Given the description of an element on the screen output the (x, y) to click on. 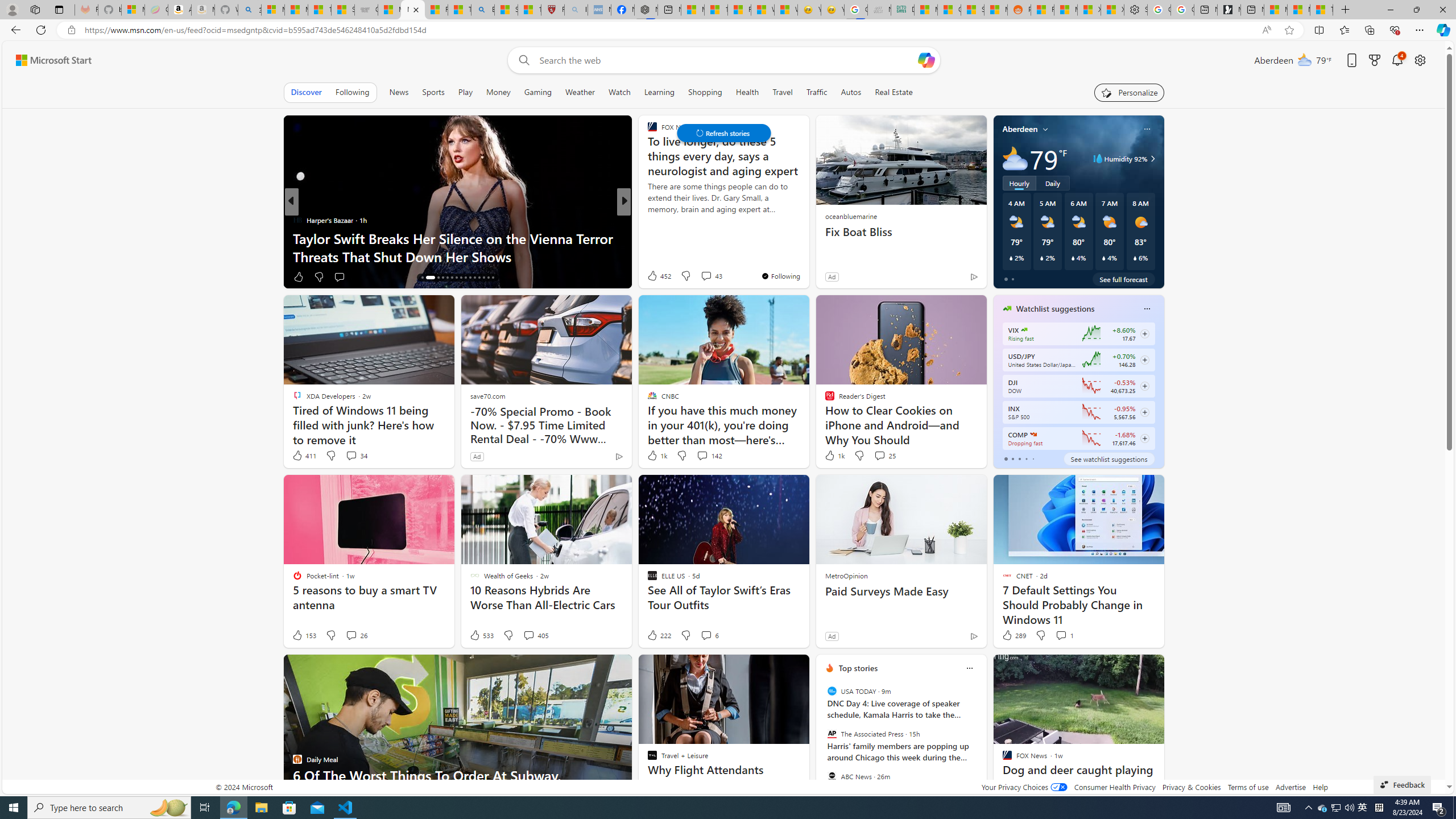
View comments 67 Comment (707, 276)
HowToGeek (647, 219)
View comments 25 Comment (884, 455)
Learning (658, 92)
